Given the description of an element on the screen output the (x, y) to click on. 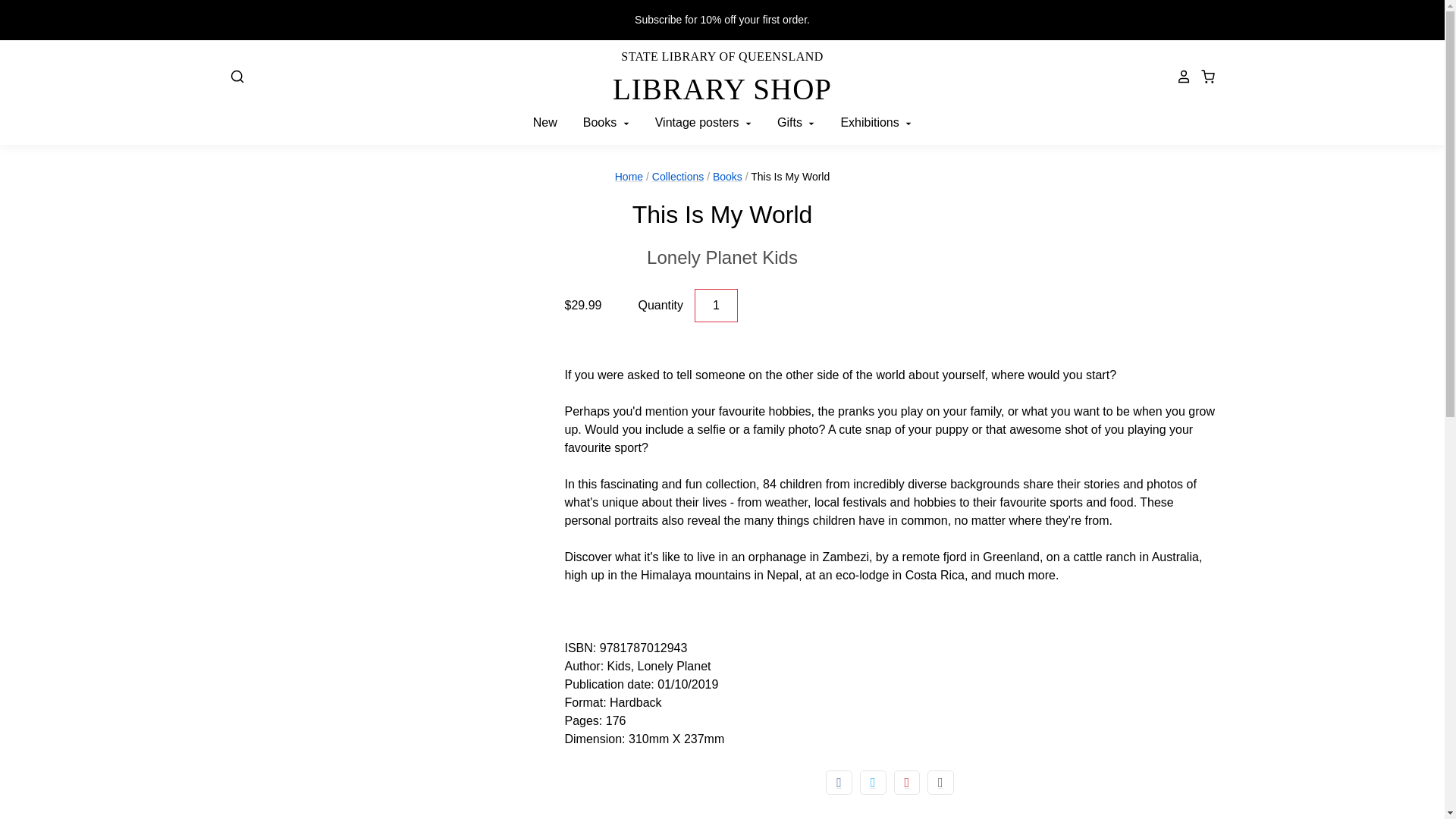
1 (715, 305)
